Given the description of an element on the screen output the (x, y) to click on. 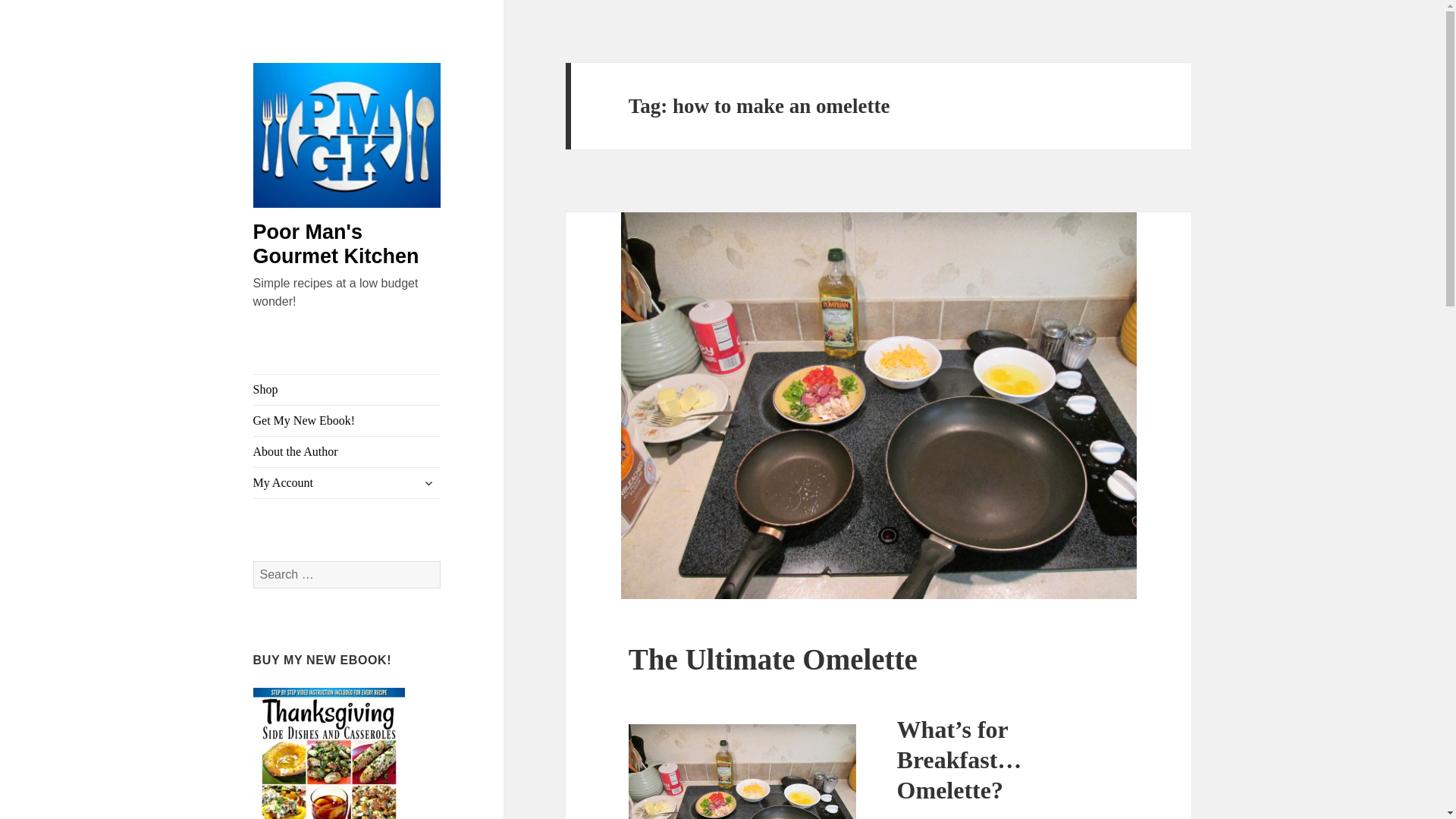
Shop (347, 389)
My Account (347, 482)
Get My New Ebook! (347, 420)
The Ultimate Omelette (772, 658)
Poor Man's Gourmet Kitchen (336, 243)
expand child menu (428, 482)
About the Author (347, 451)
